Given the description of an element on the screen output the (x, y) to click on. 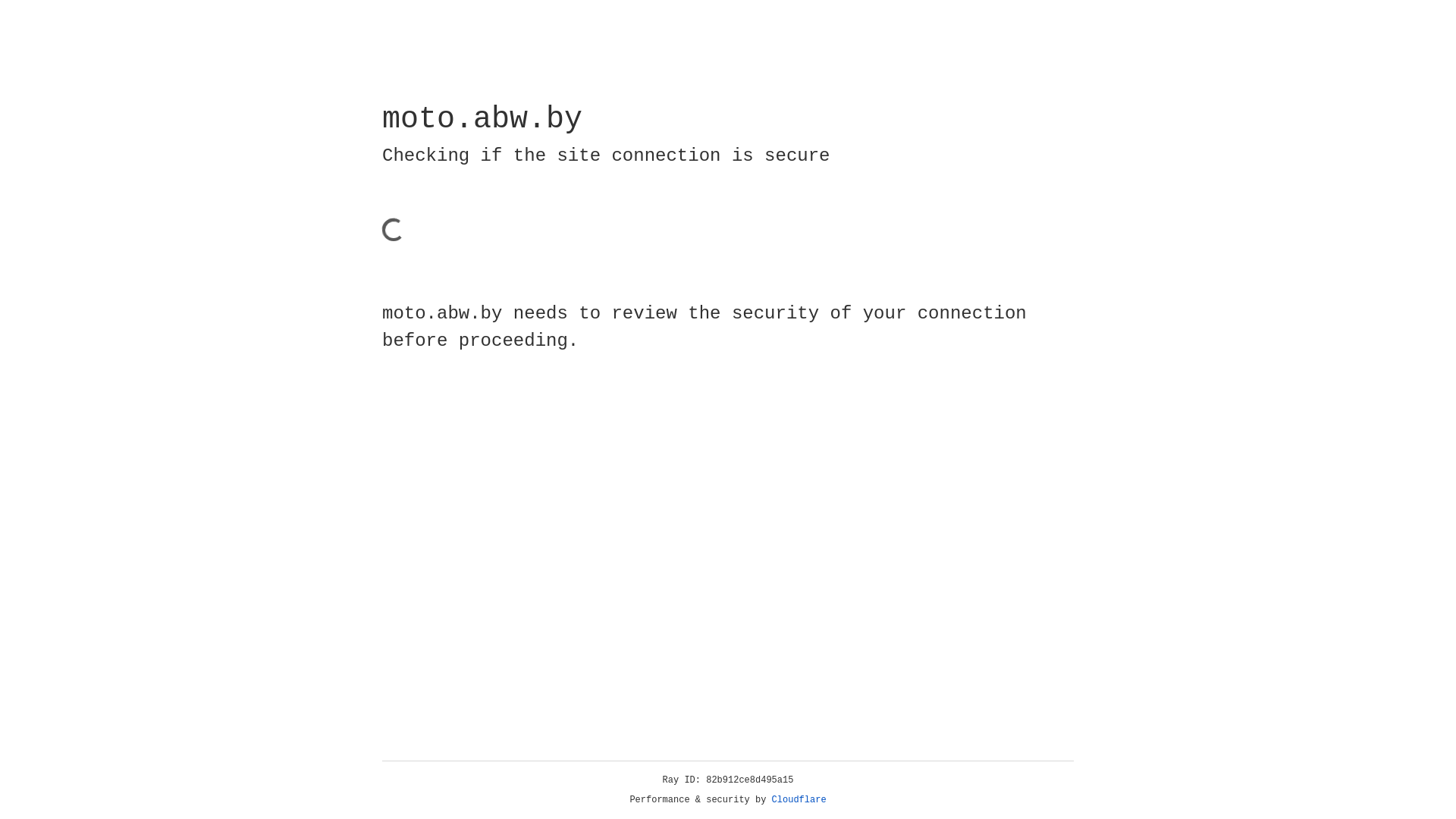
Cloudflare Element type: text (798, 799)
